Given the description of an element on the screen output the (x, y) to click on. 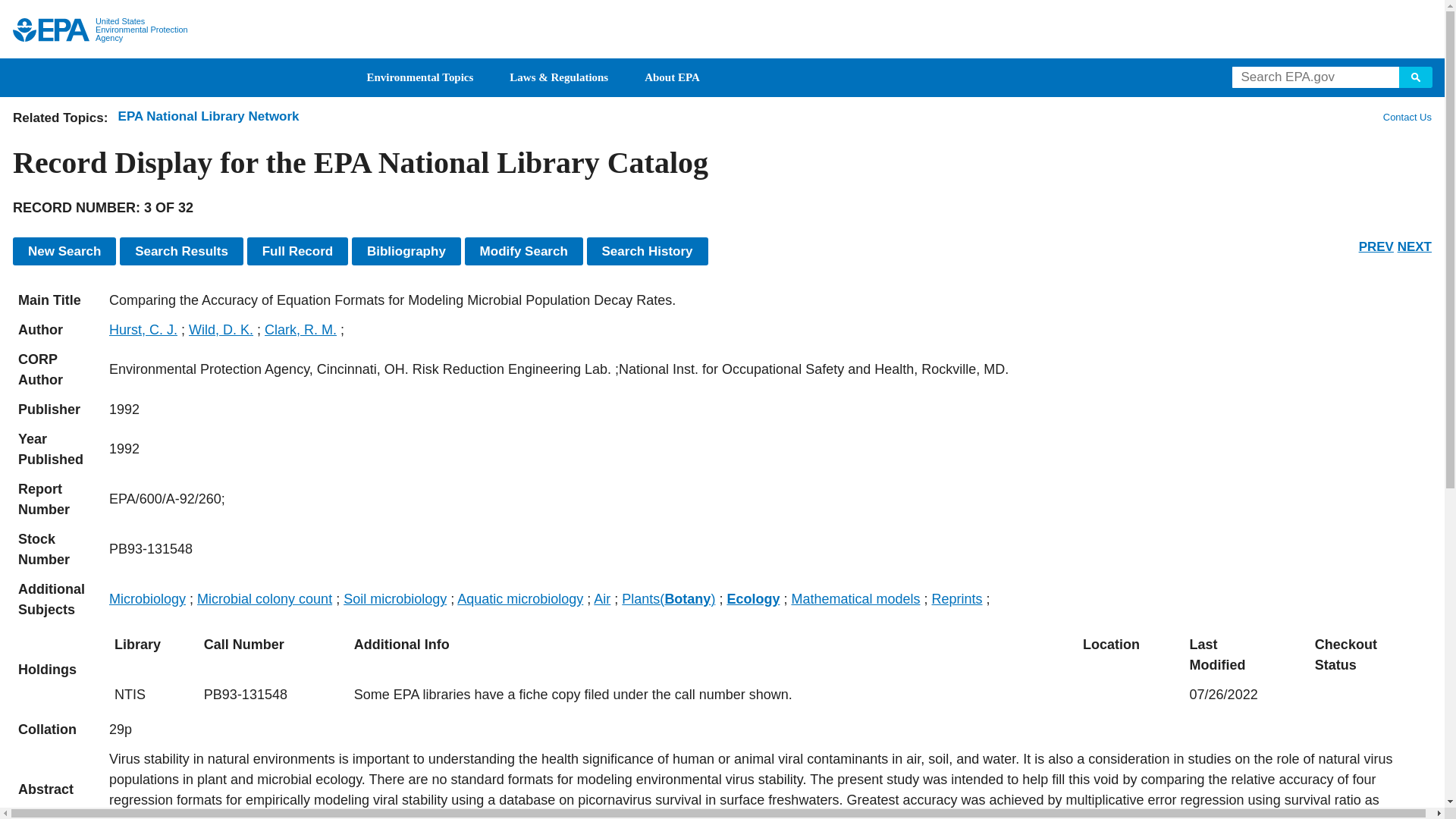
Show results in bibliographic format (406, 251)
US EPA (50, 29)
Create a New Search (64, 251)
full length text available by clicking full record (767, 784)
Soil microbiology (394, 598)
New Search (64, 251)
EPA National Library Network (208, 115)
Search History (646, 251)
Environmental Topics (420, 77)
About EPA (671, 77)
Reprints (956, 598)
Ecology (752, 598)
Clark, R. M. (300, 329)
EPA National Library Network (208, 115)
